Given the description of an element on the screen output the (x, y) to click on. 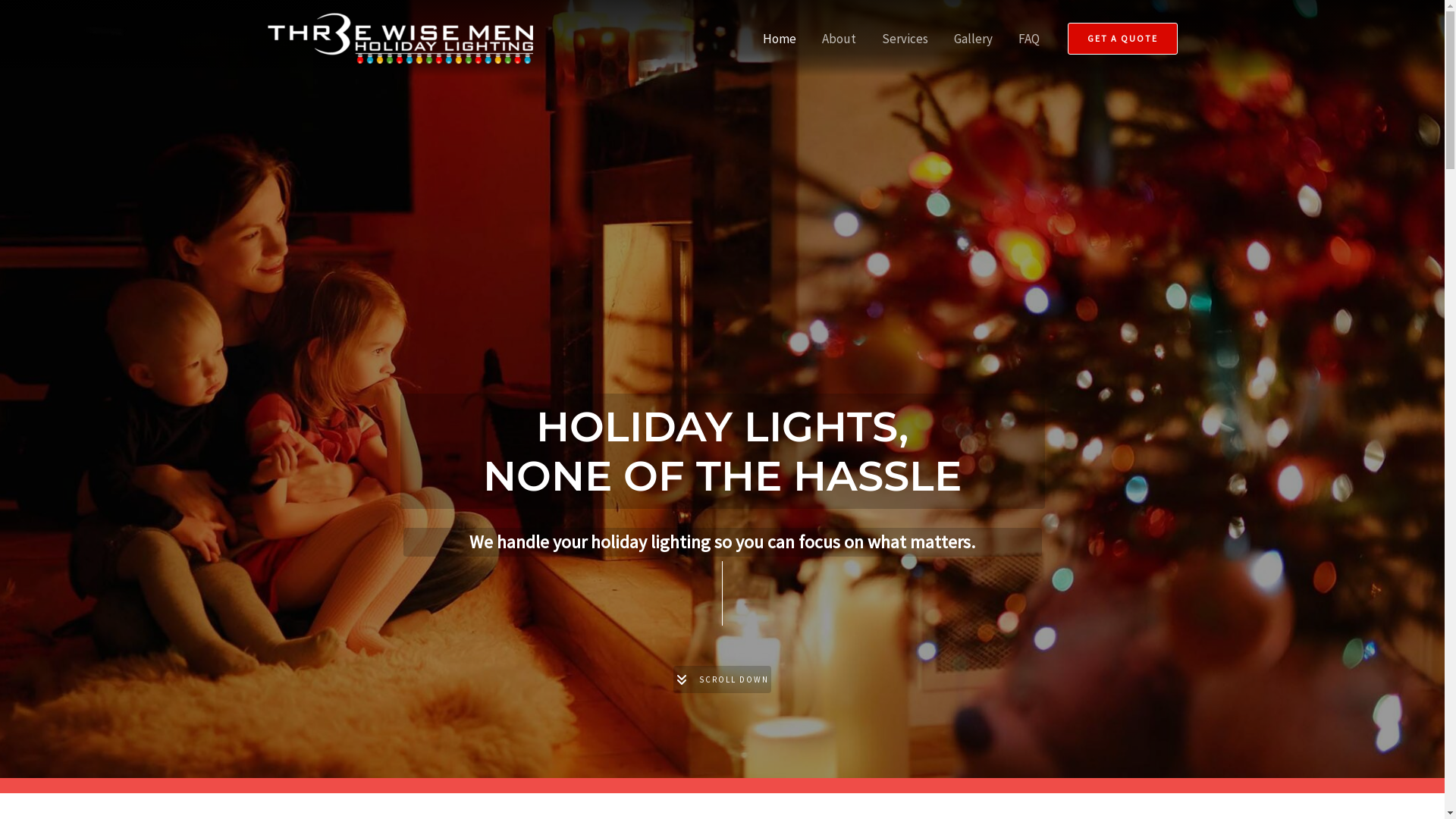
About Element type: text (838, 38)
Services Element type: text (905, 38)
GET A QUOTE Element type: text (1122, 38)
Home Element type: text (778, 38)
FAQ Element type: text (1028, 38)
Gallery Element type: text (972, 38)
